Given the description of an element on the screen output the (x, y) to click on. 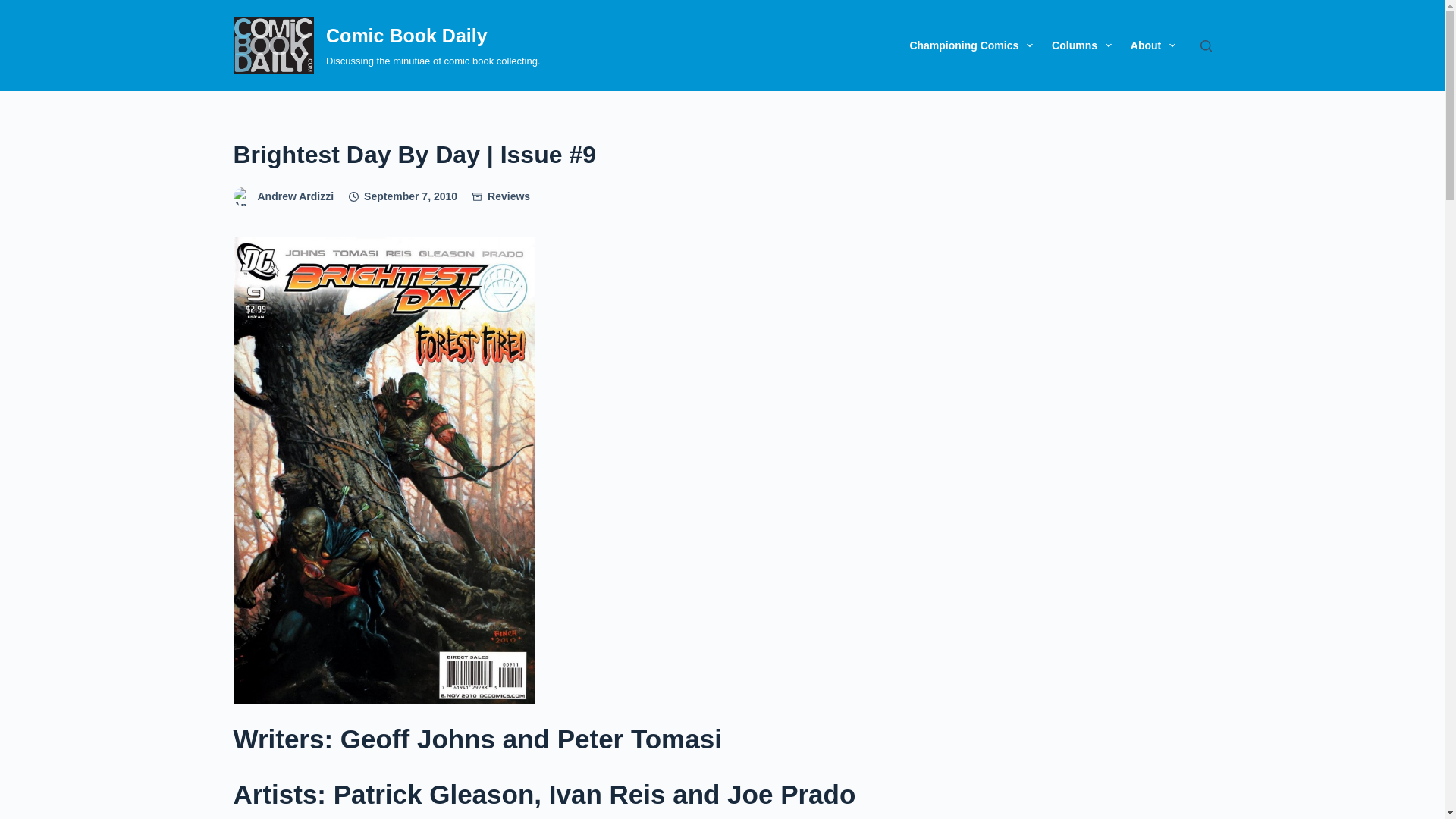
Comic Book Daily (406, 35)
Championing Comics (970, 45)
Skip to content (15, 7)
Posts by Andrew Ardizzi (295, 196)
